Given the description of an element on the screen output the (x, y) to click on. 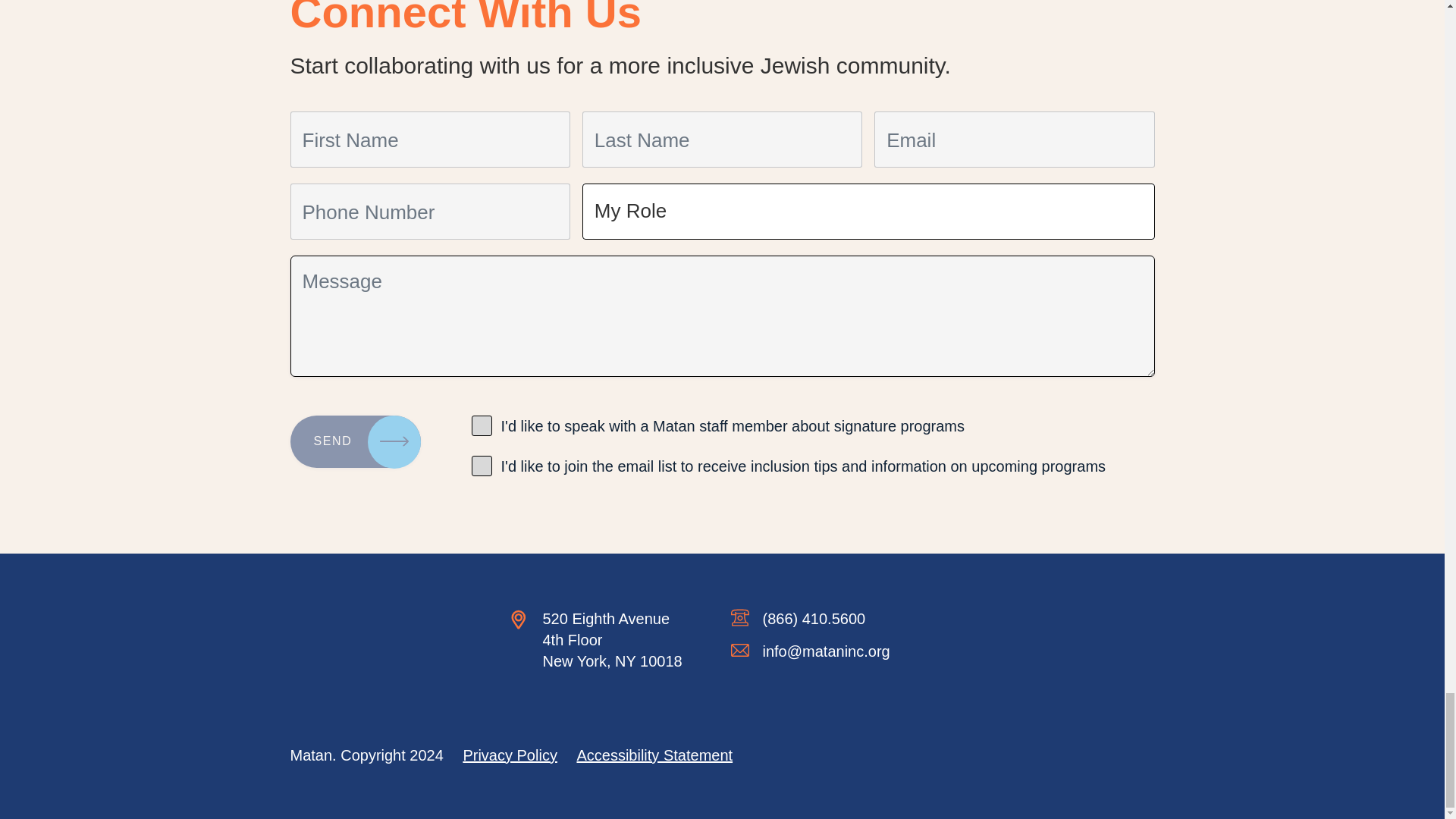
Accessibility Statement (654, 754)
SEND (354, 441)
Privacy Policy (509, 754)
